Given the description of an element on the screen output the (x, y) to click on. 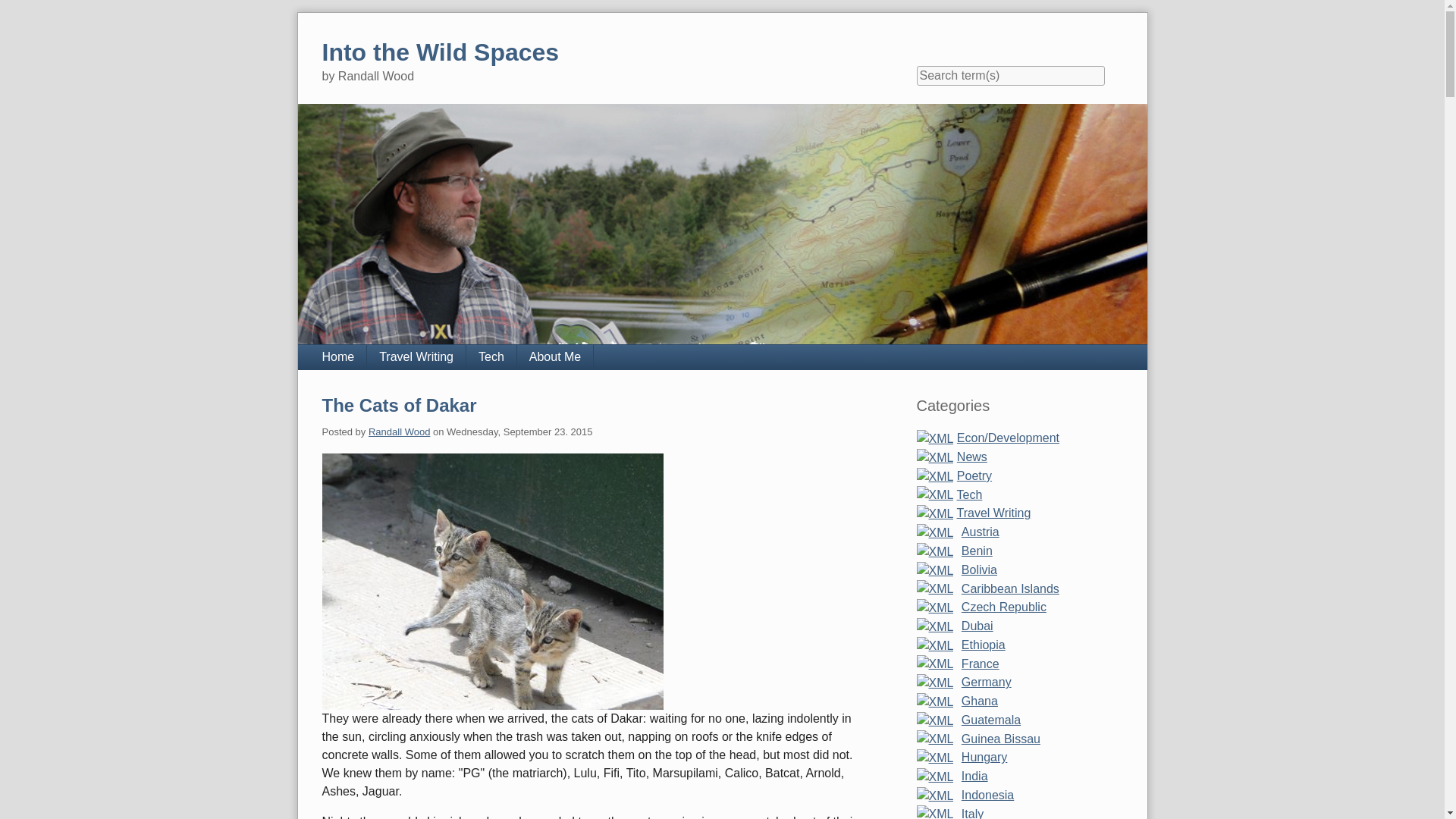
Randall Wood (398, 431)
Home (337, 356)
Poetry (973, 475)
Tech (490, 356)
About Me (440, 58)
Bolivia (555, 356)
Travel Writing (976, 569)
Go! (415, 356)
